Given the description of an element on the screen output the (x, y) to click on. 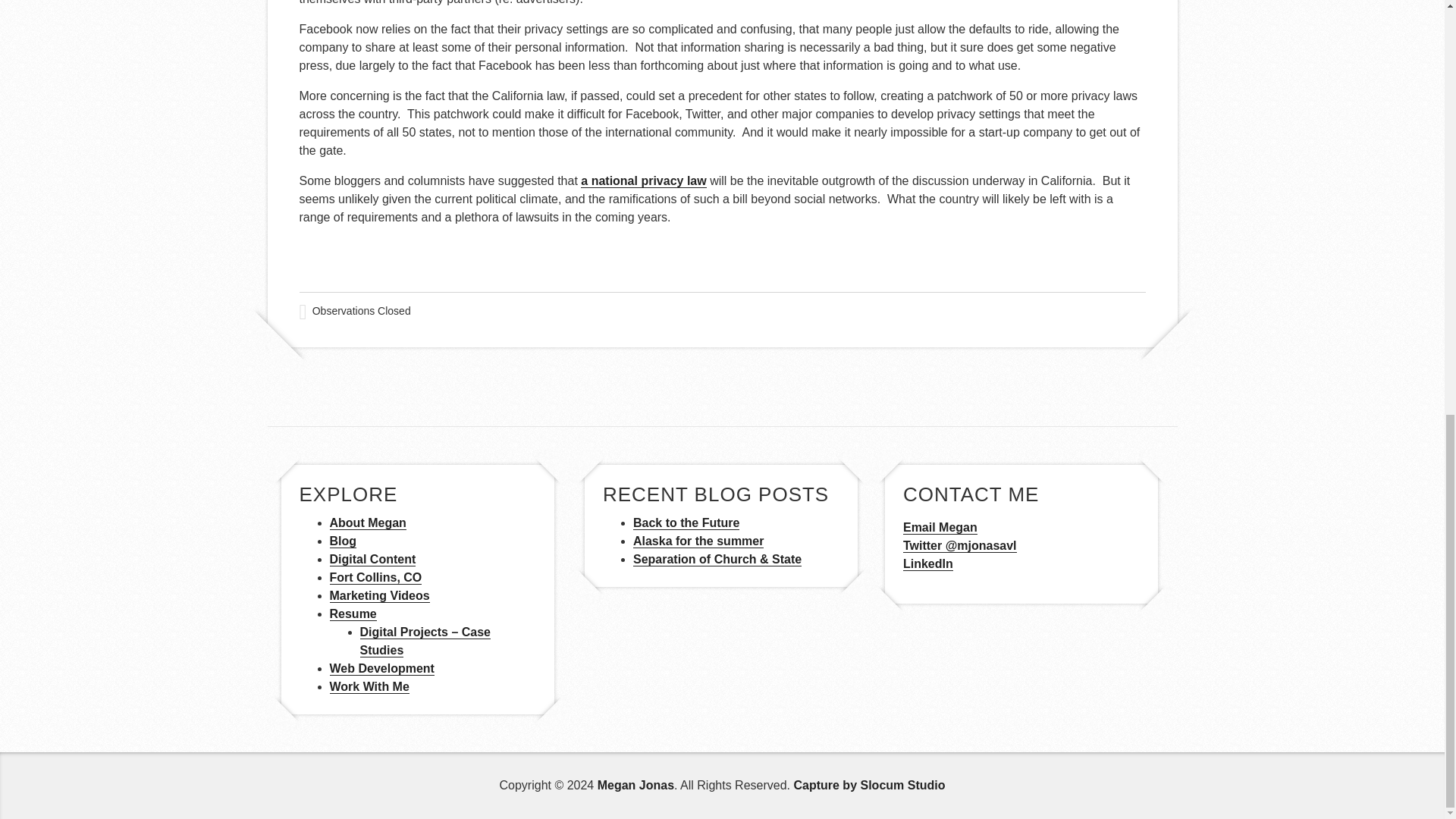
Blog (342, 540)
a national privacy law (643, 181)
About Megan (367, 522)
Fort Collins, CO (375, 577)
Digital Content (371, 559)
Marketing Videos (379, 595)
